Given the description of an element on the screen output the (x, y) to click on. 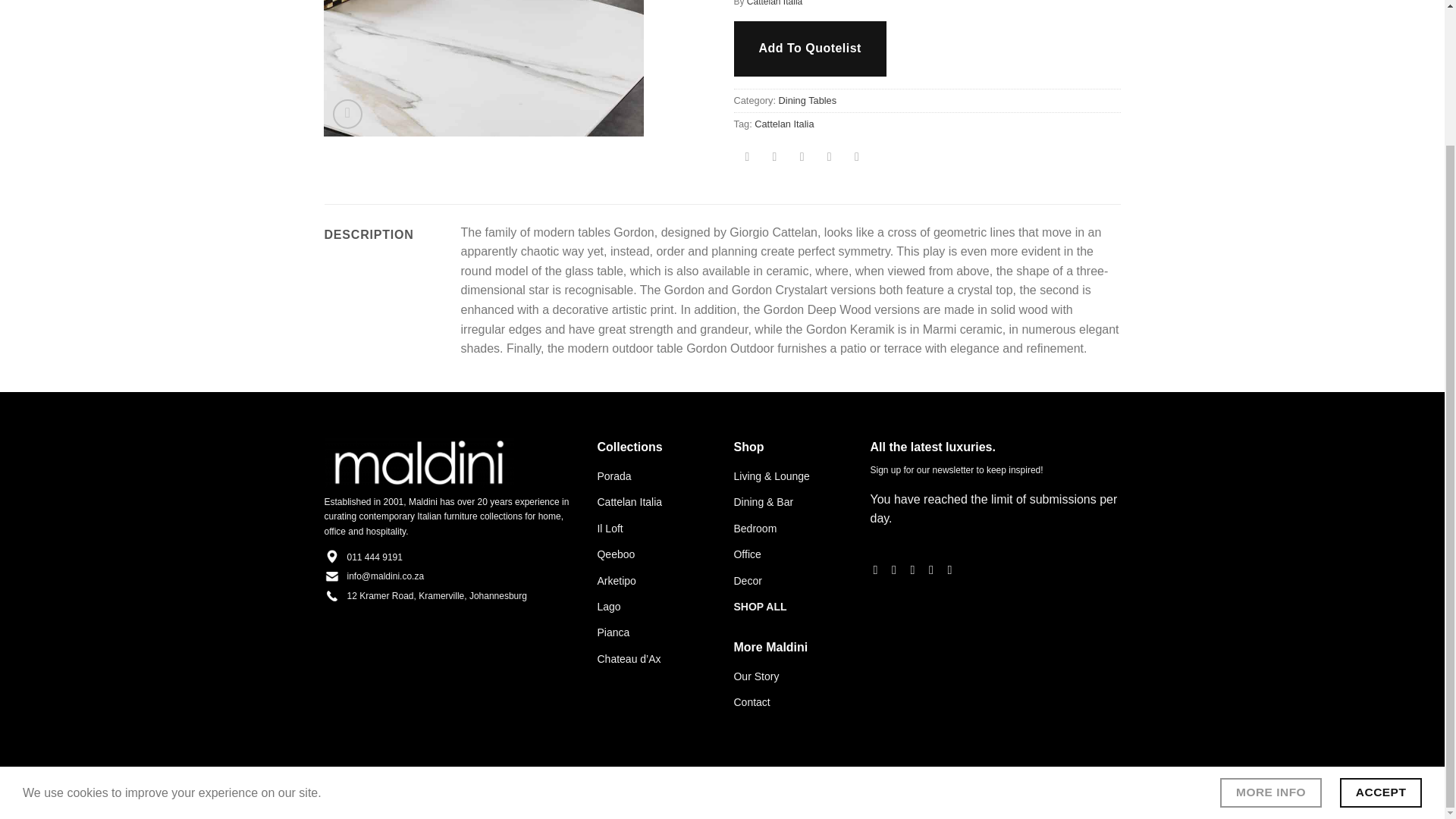
Share on Twitter (774, 157)
Share on LinkedIn (856, 157)
Zoom (347, 113)
Pin on Pinterest (828, 157)
Share on Facebook (747, 157)
Follow on LinkedIn (953, 569)
Follow on Facebook (879, 569)
Email to a Friend (801, 157)
